Given the description of an element on the screen output the (x, y) to click on. 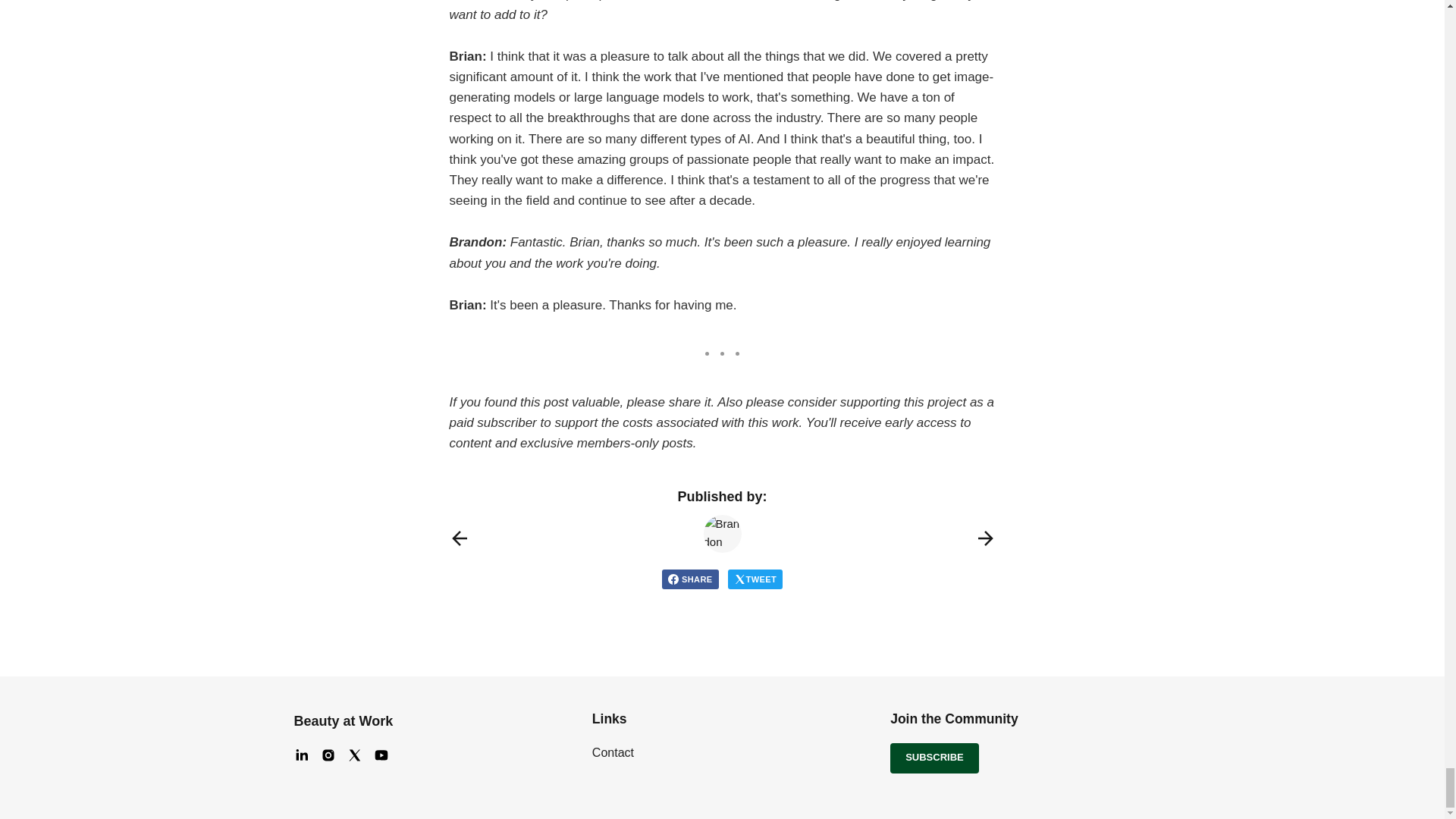
SHARE (690, 578)
TWEET (755, 578)
